Given the description of an element on the screen output the (x, y) to click on. 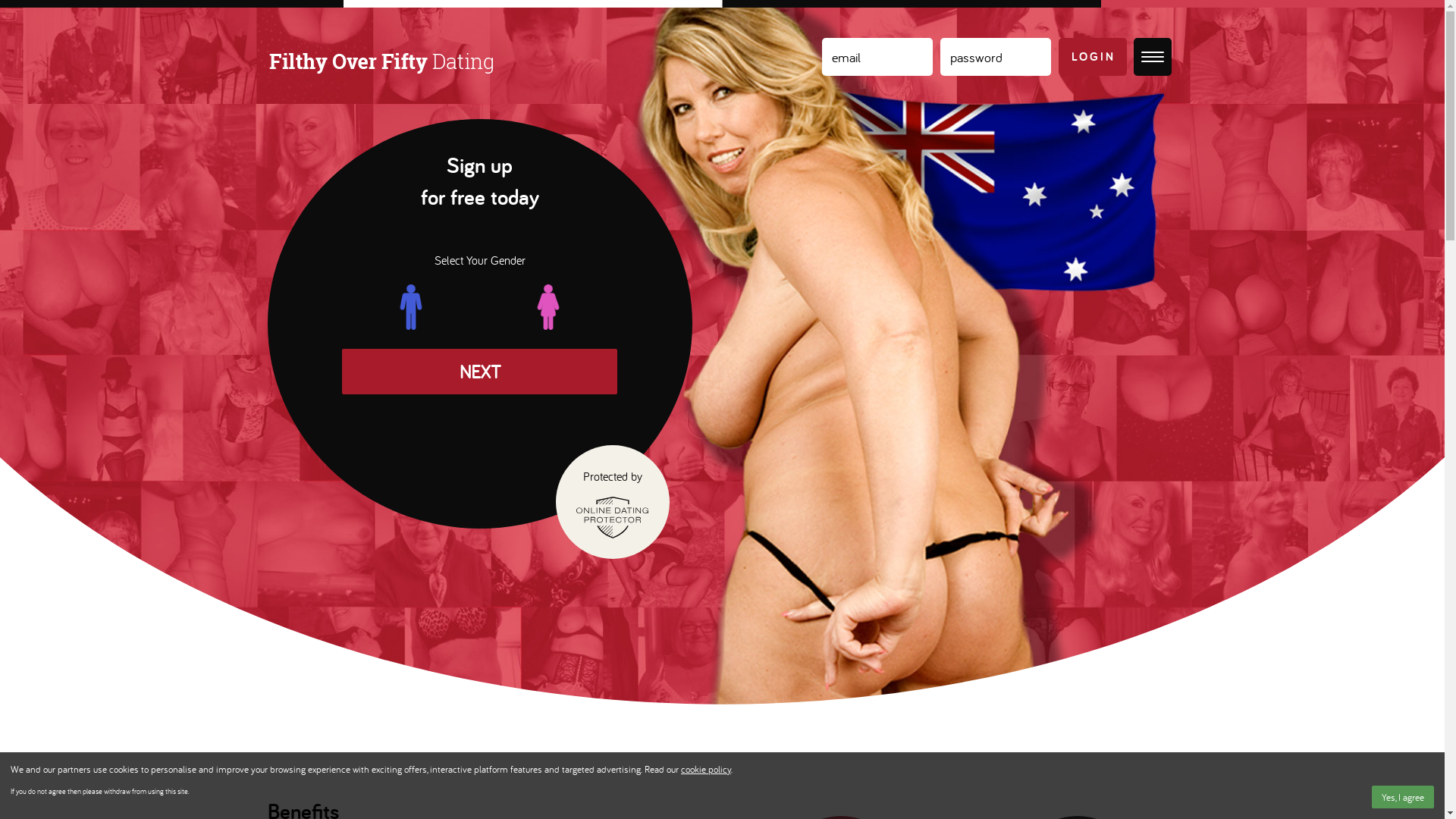
NEXT Element type: text (479, 371)
cookie policy Element type: text (705, 768)
Yes, I agree Element type: text (1402, 796)
LOGIN Element type: text (1092, 56)
